Given the description of an element on the screen output the (x, y) to click on. 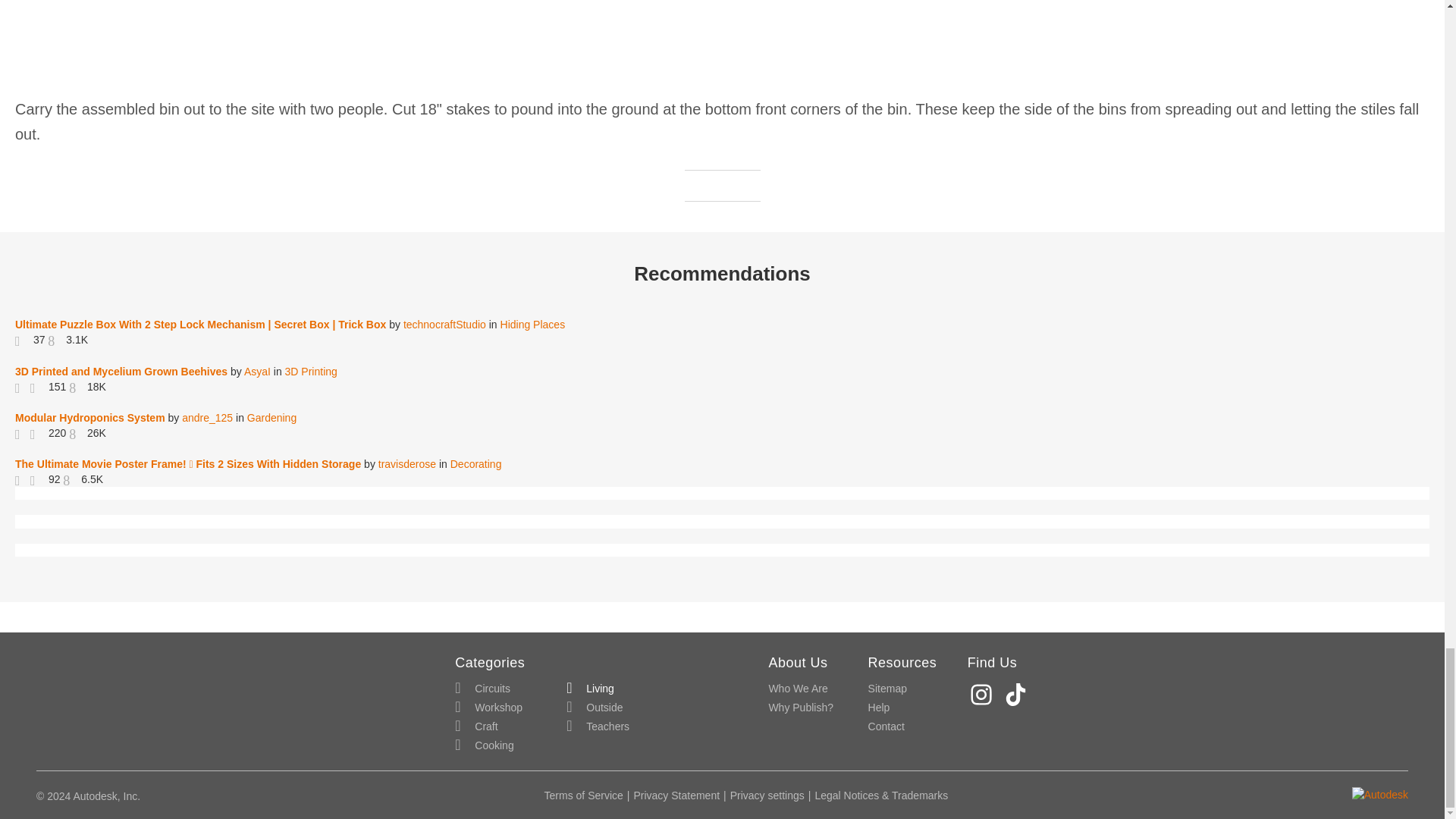
Views Count (76, 386)
Favorites Count (22, 339)
Hiding Places (533, 324)
Contest Winner (22, 479)
Instagram (983, 694)
Contest Winner (22, 386)
technocraftStudio (444, 324)
TikTok (1018, 694)
Favorites Count (37, 479)
AsyaI (257, 371)
